Given the description of an element on the screen output the (x, y) to click on. 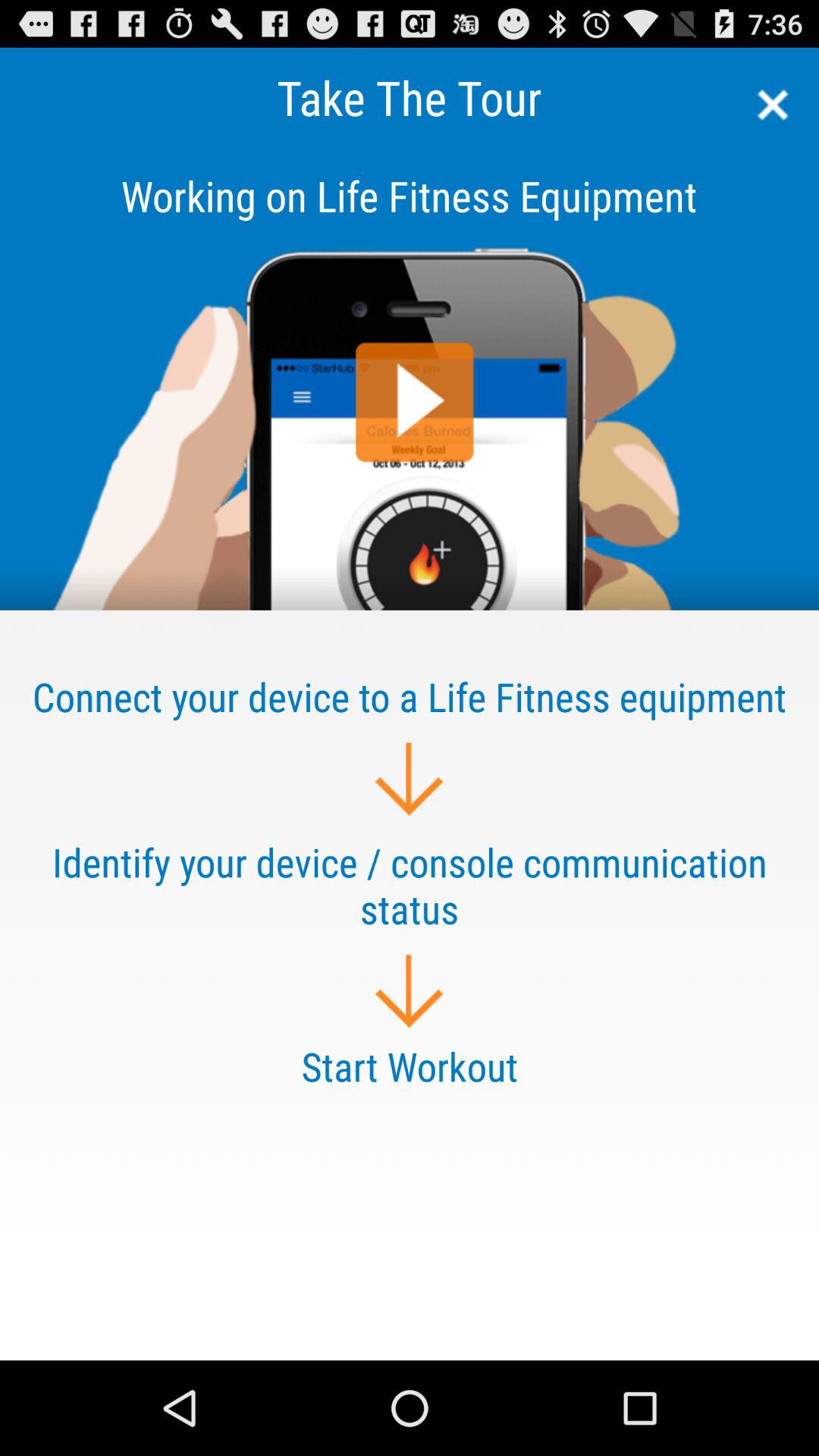
exit (768, 104)
